Given the description of an element on the screen output the (x, y) to click on. 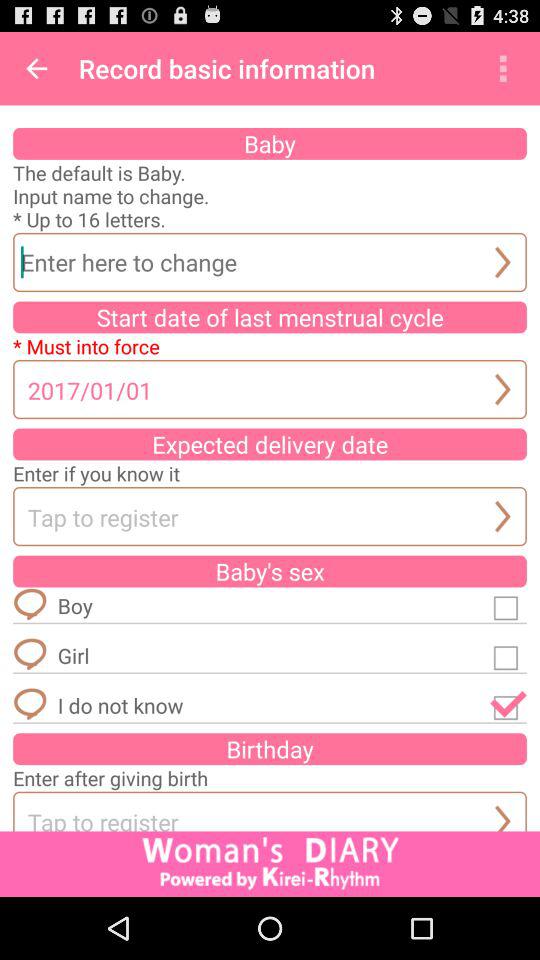
select icon next to record basic information item (36, 68)
